Given the description of an element on the screen output the (x, y) to click on. 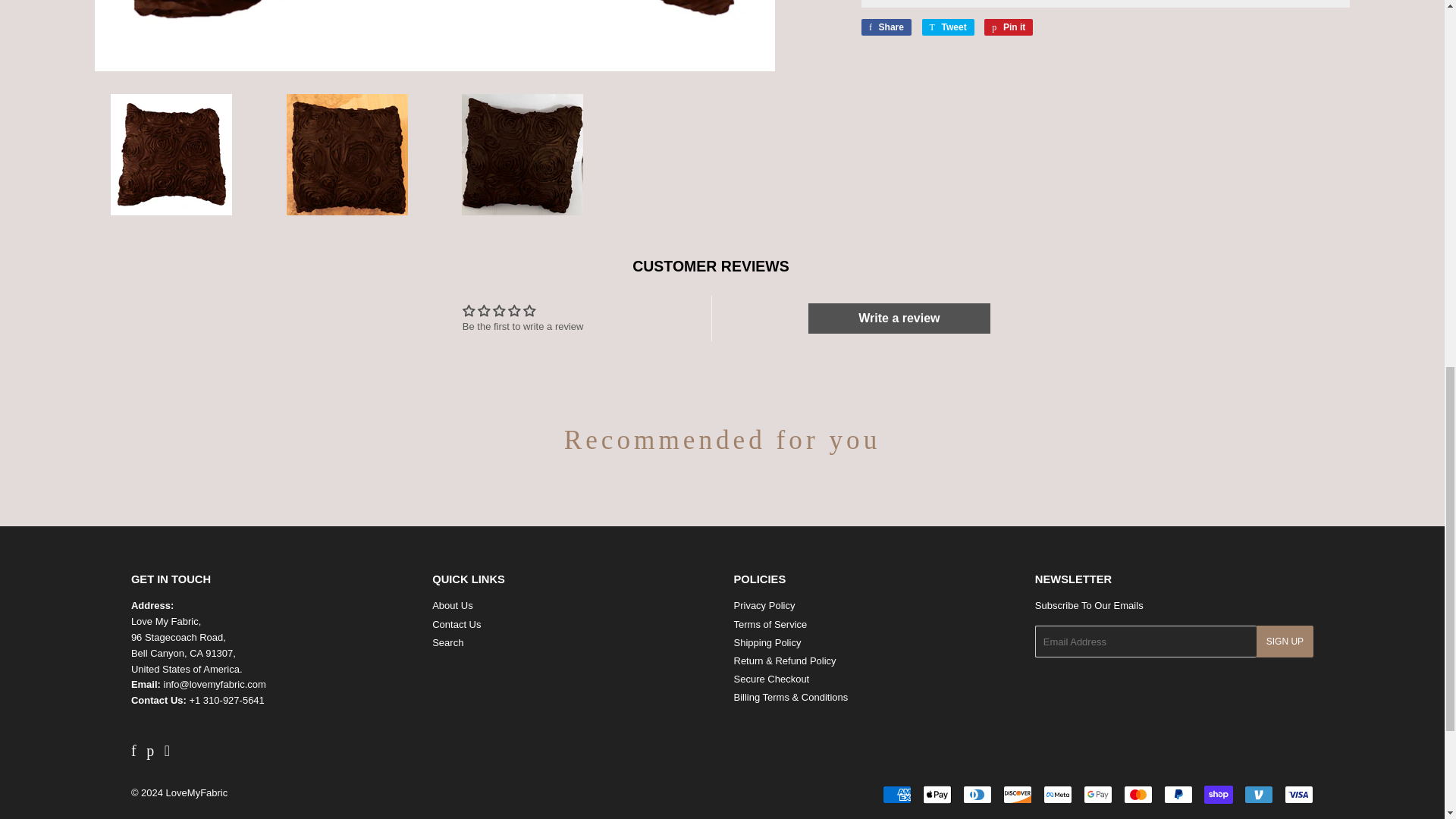
Share on Facebook (886, 27)
Pin on Pinterest (1008, 27)
Shop Pay (1218, 794)
Apple Pay (937, 794)
Meta Pay (1057, 794)
Visa (1298, 794)
PayPal (1177, 794)
Tweet on Twitter (947, 27)
Discover (1017, 794)
Google Pay (1097, 794)
Diners Club (976, 794)
Mastercard (1138, 794)
Venmo (1258, 794)
American Express (896, 794)
